Given the description of an element on the screen output the (x, y) to click on. 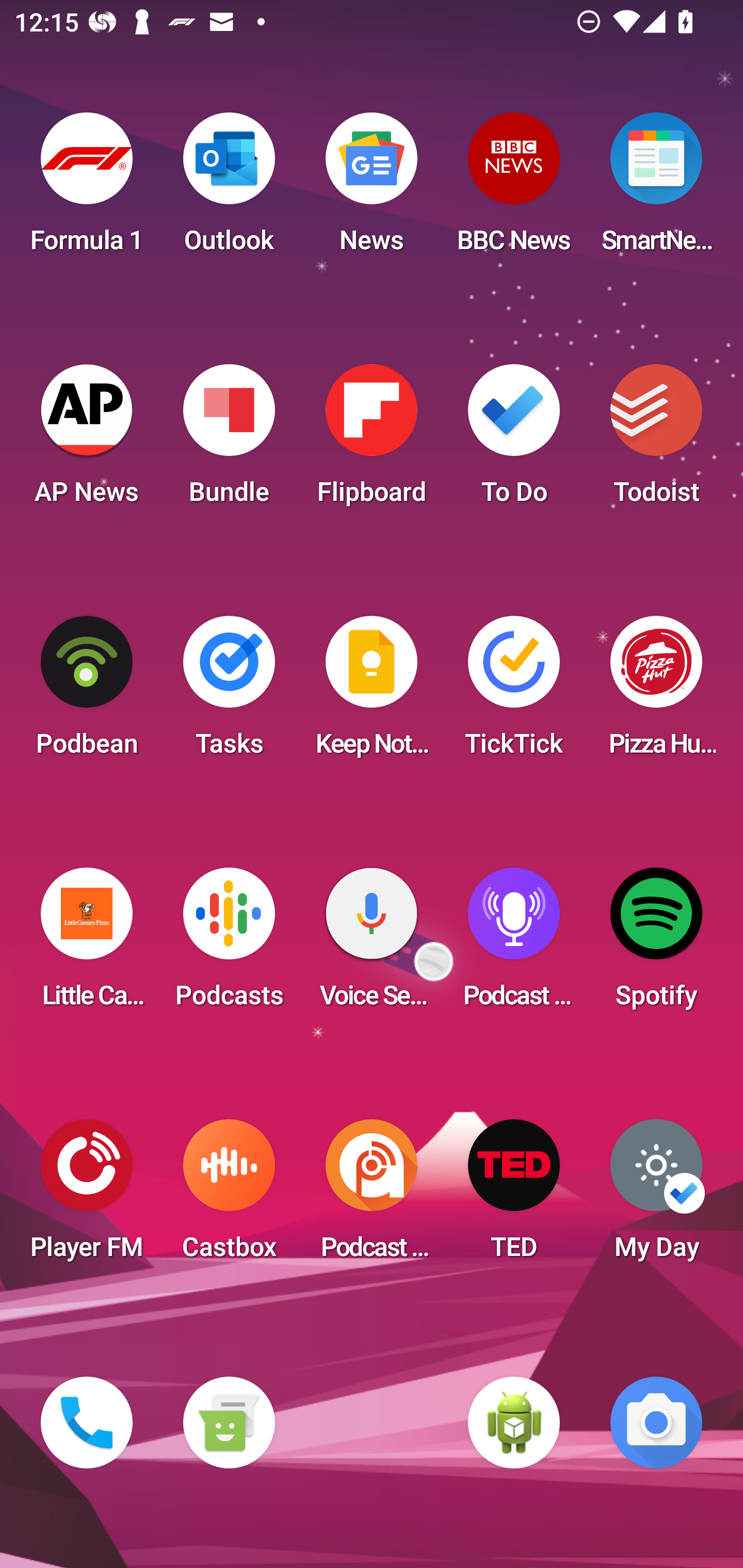
Formula 1 (86, 188)
Outlook (228, 188)
News (371, 188)
BBC News (513, 188)
SmartNews (656, 188)
AP News (86, 440)
Bundle (228, 440)
Flipboard (371, 440)
To Do (513, 440)
Todoist (656, 440)
Podbean (86, 692)
Tasks (228, 692)
Keep Notes (371, 692)
TickTick (513, 692)
Pizza Hut HK & Macau (656, 692)
Little Caesars Pizza (86, 943)
Podcasts (228, 943)
Voice Search (371, 943)
Podcast Player (513, 943)
Spotify (656, 943)
Player FM (86, 1195)
Castbox (228, 1195)
Podcast Addict (371, 1195)
TED (513, 1195)
My Day (656, 1195)
Phone (86, 1422)
Messaging (228, 1422)
WebView Browser Tester (513, 1422)
Camera (656, 1422)
